Given the description of an element on the screen output the (x, y) to click on. 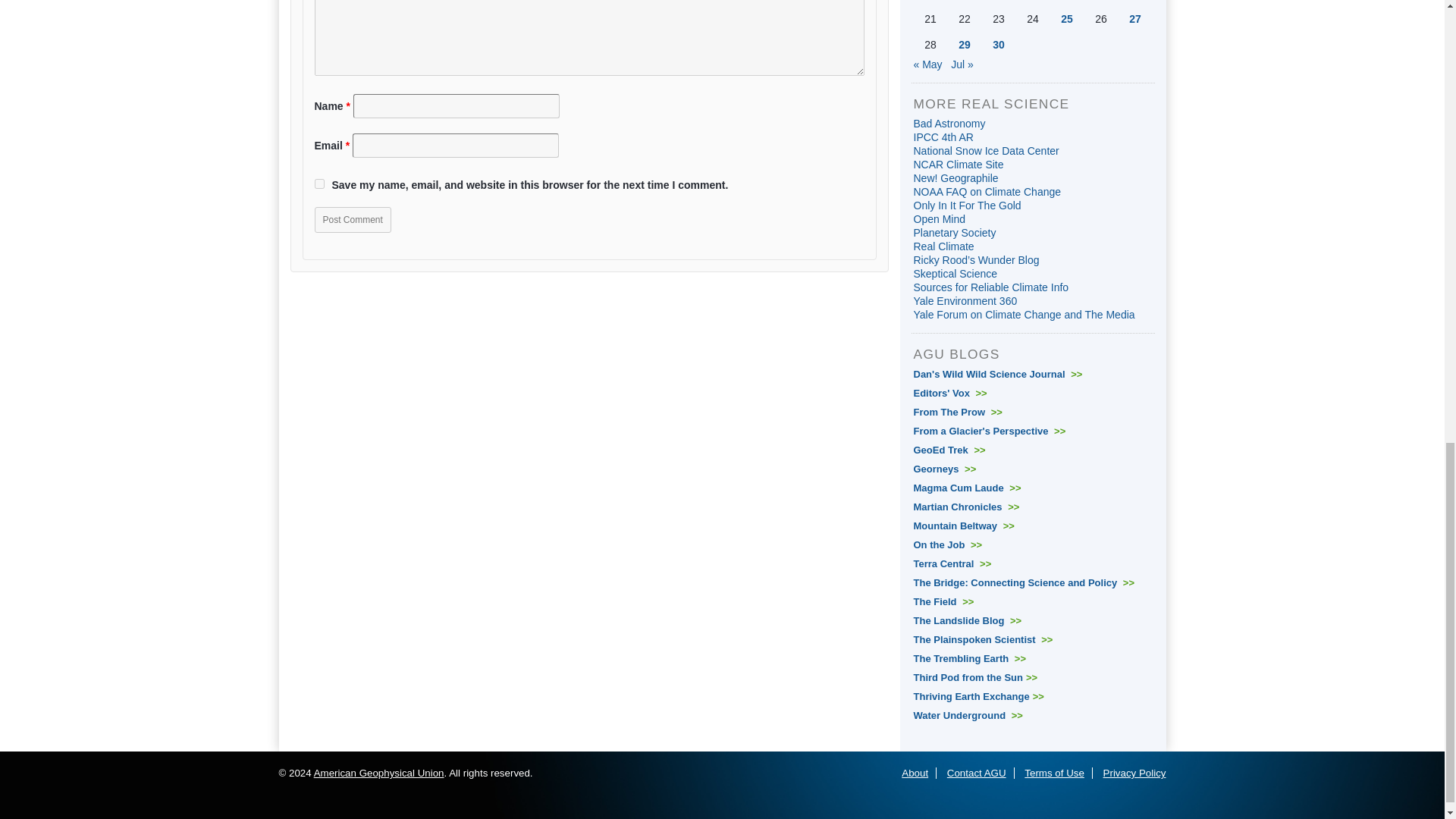
Post Comment (352, 219)
yes (318, 184)
Post Comment (352, 219)
